Given the description of an element on the screen output the (x, y) to click on. 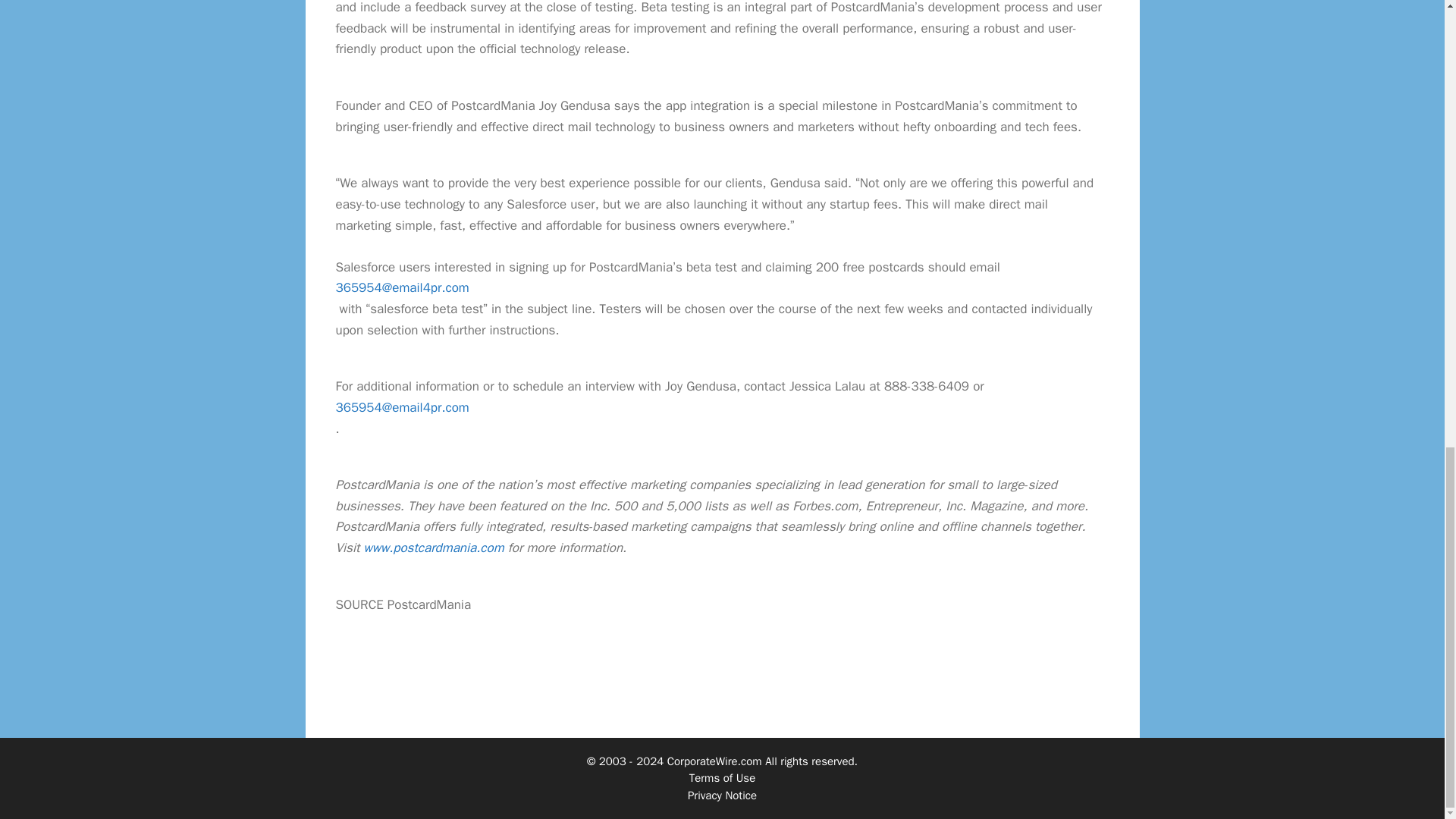
Privacy Notice (722, 795)
Terms of Use (721, 777)
www.postcardmania.com (433, 547)
